Given the description of an element on the screen output the (x, y) to click on. 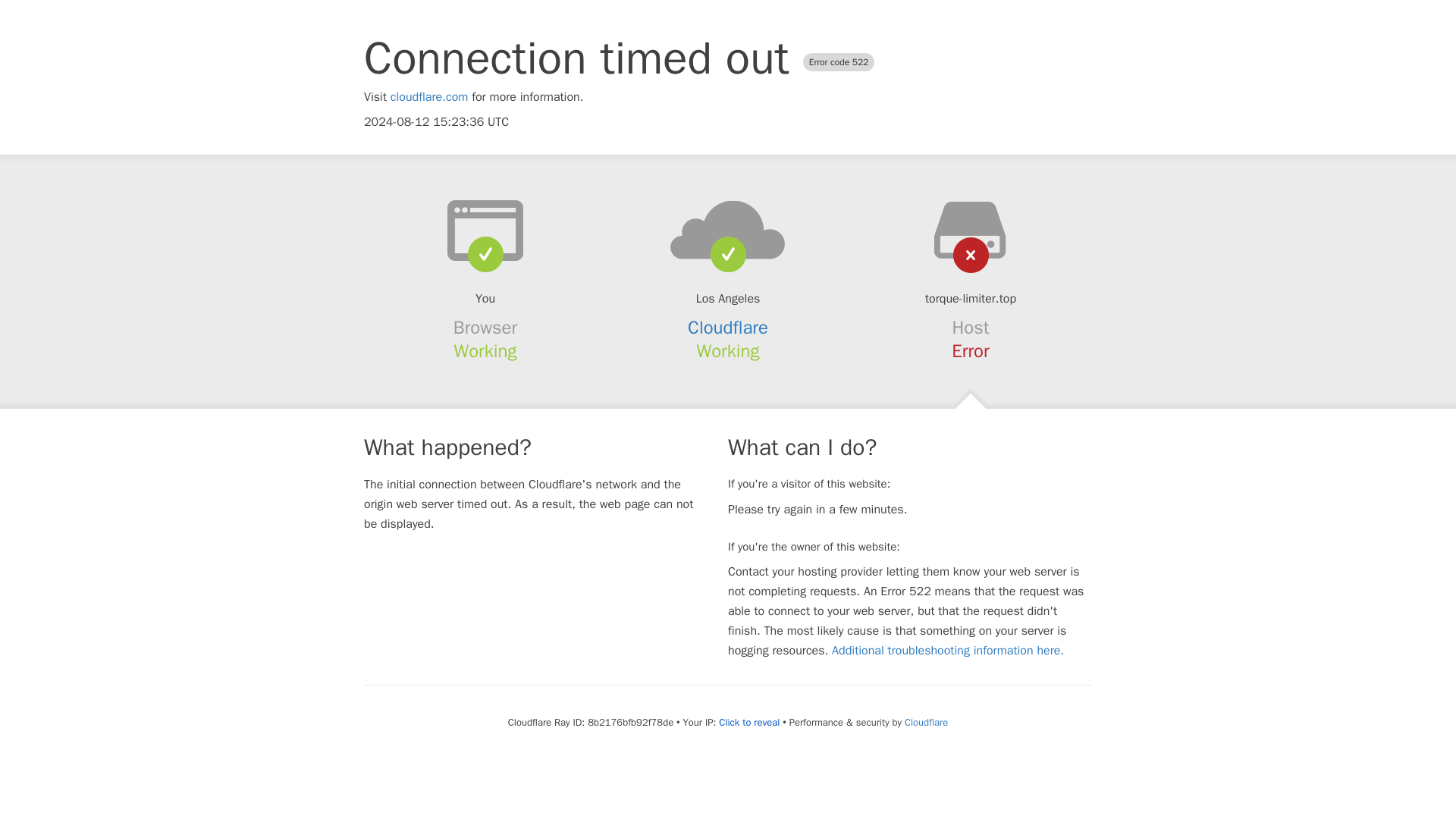
Additional troubleshooting information here. (947, 650)
cloudflare.com (429, 96)
Cloudflare (925, 721)
Click to reveal (748, 722)
Cloudflare (727, 327)
